Given the description of an element on the screen output the (x, y) to click on. 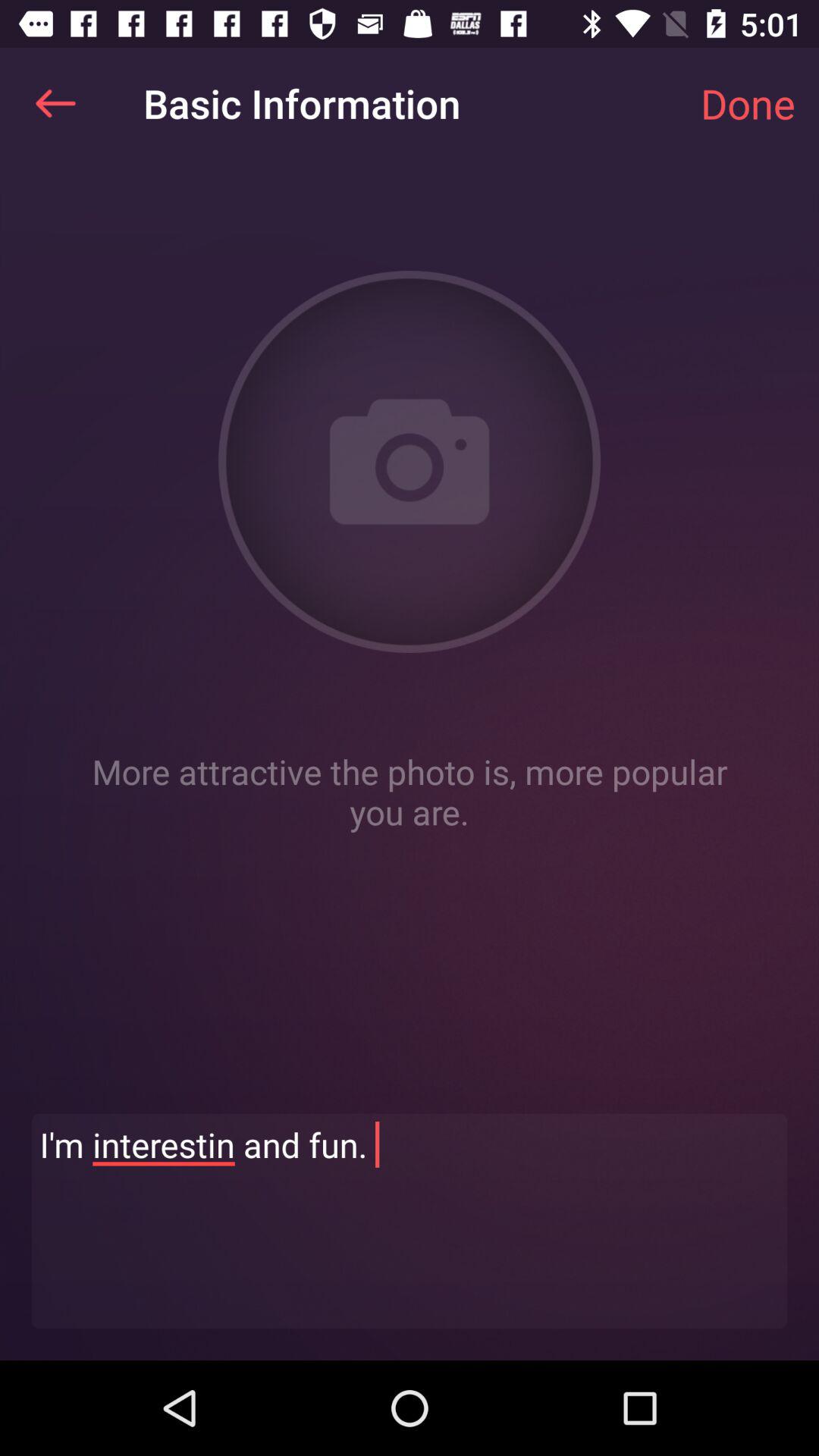
swipe until done (747, 103)
